Given the description of an element on the screen output the (x, y) to click on. 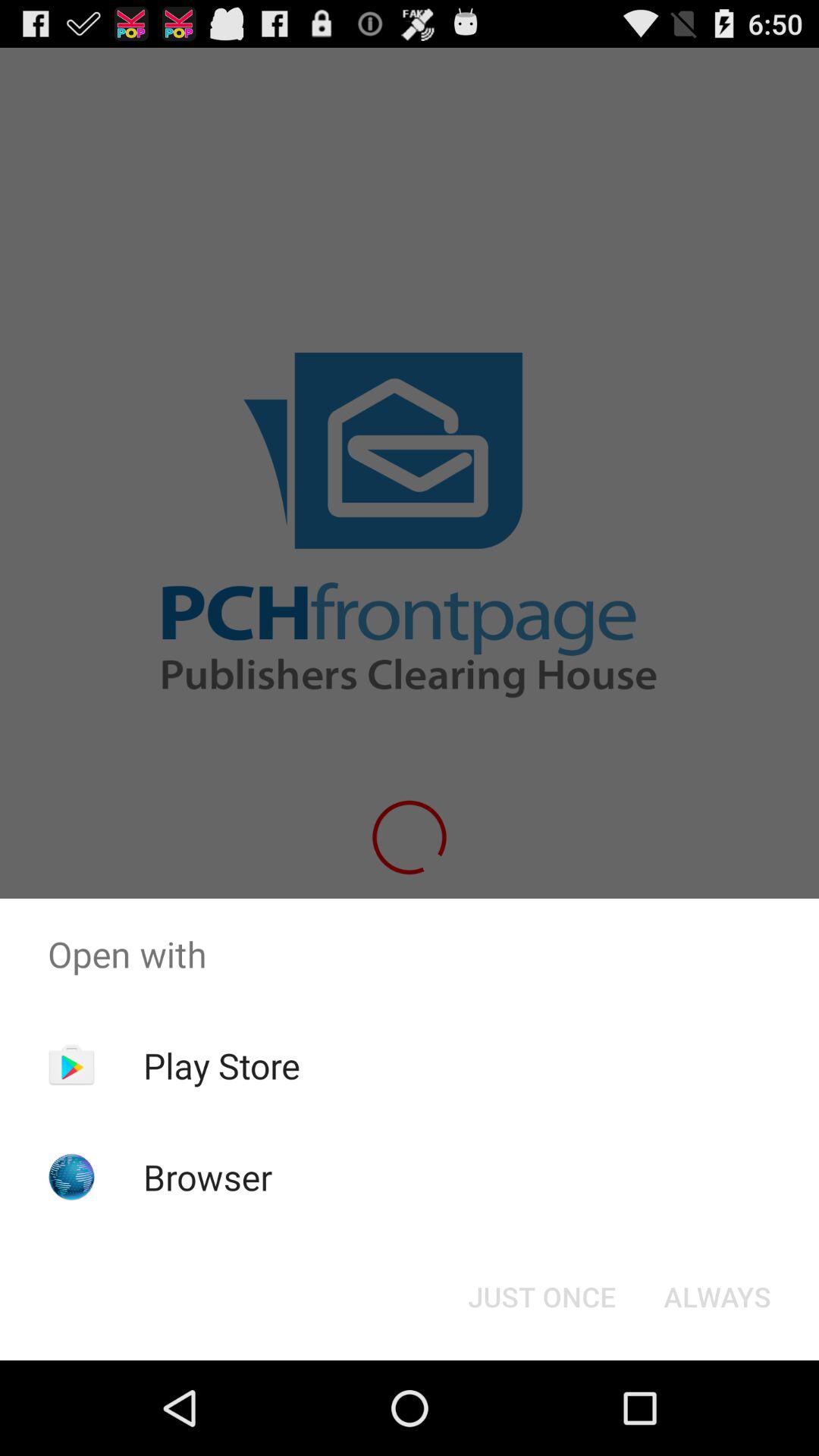
select the always (717, 1296)
